Given the description of an element on the screen output the (x, y) to click on. 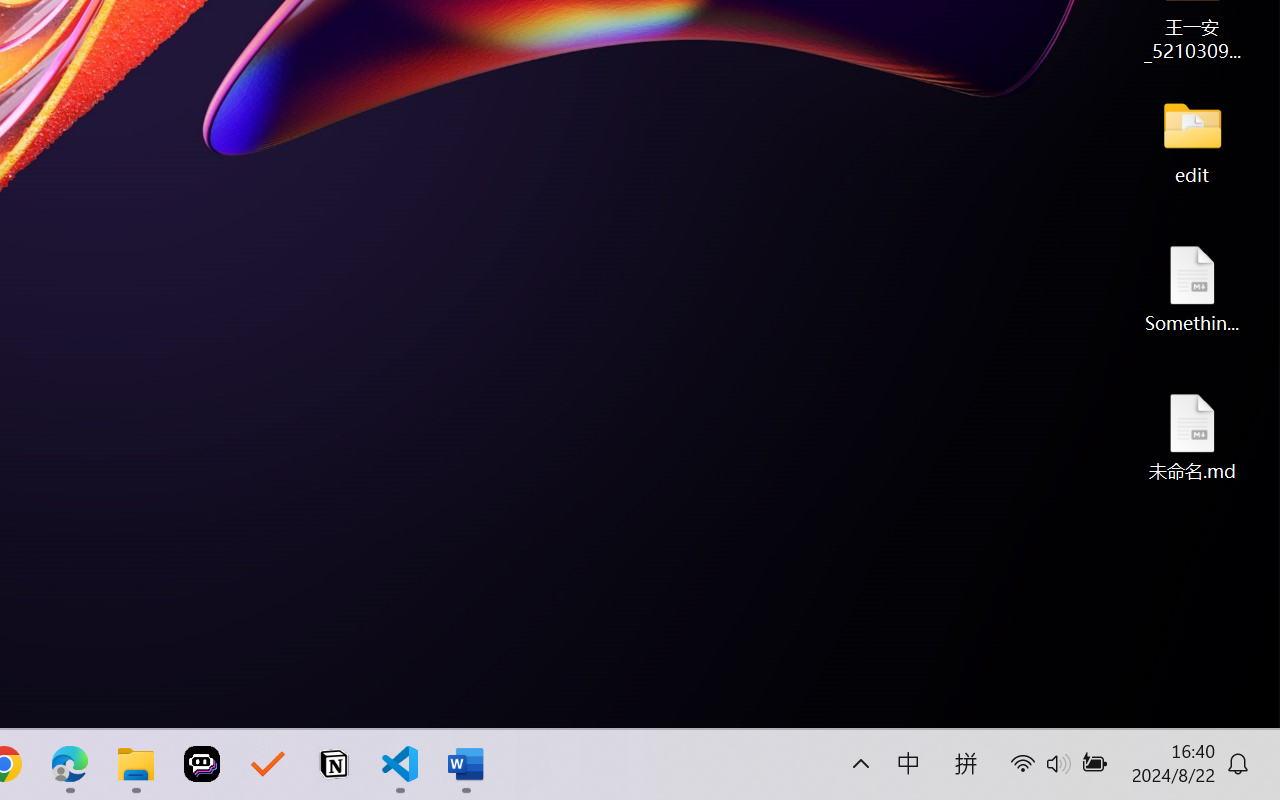
Something.md (1192, 288)
Notion (333, 764)
Poe (201, 764)
edit (1192, 140)
